Given the description of an element on the screen output the (x, y) to click on. 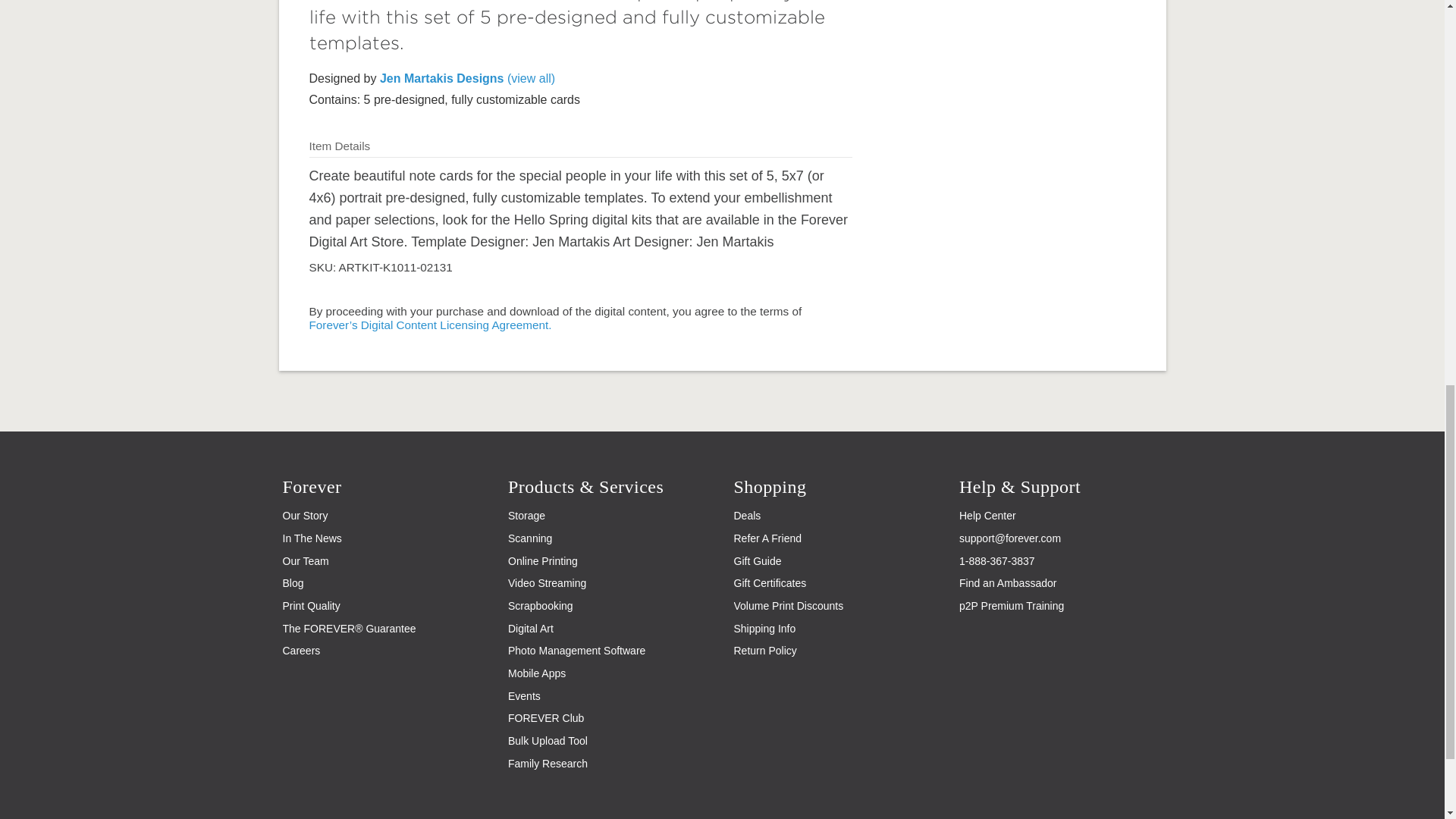
Jen Martakis Designs (467, 78)
